Given the description of an element on the screen output the (x, y) to click on. 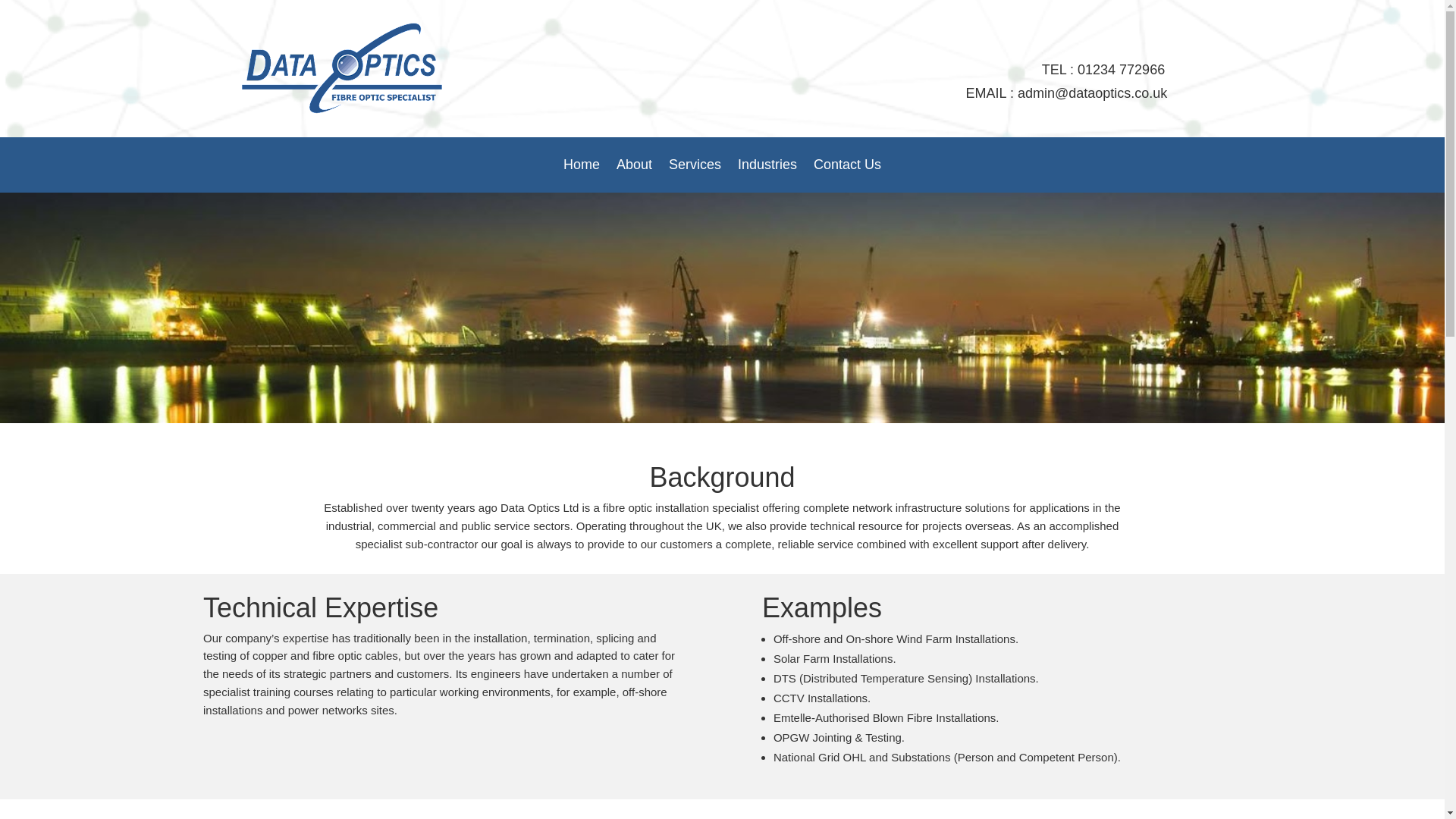
Home (581, 167)
Industries (767, 167)
unnamed (341, 67)
About (633, 167)
Contact Us (846, 167)
Services (694, 167)
